Given the description of an element on the screen output the (x, y) to click on. 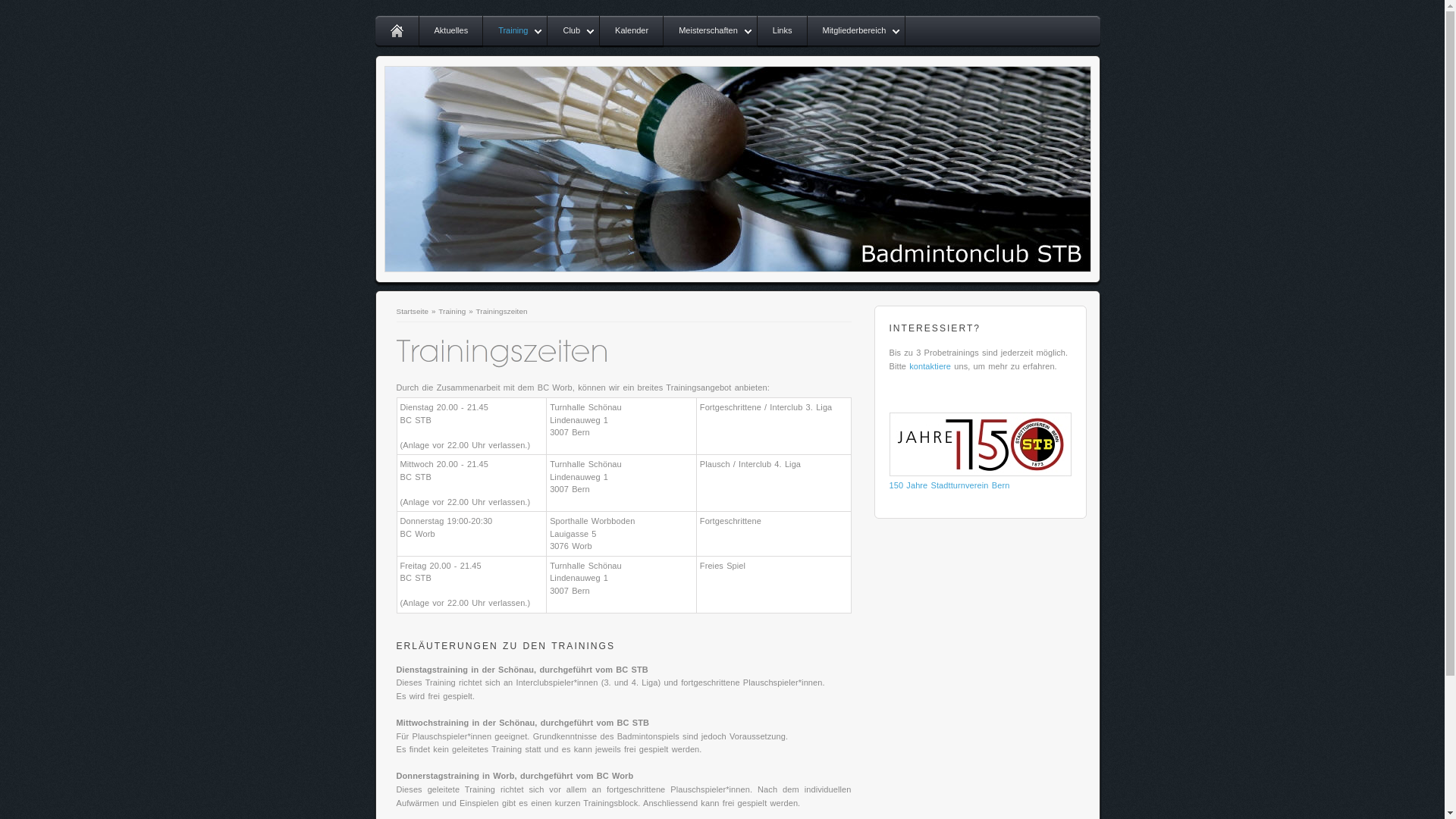
Startseite Element type: text (411, 311)
  Element type: text (395, 31)
Kalender Element type: text (631, 31)
Training Element type: text (515, 31)
Links Element type: text (782, 31)
Aktuelles Element type: text (450, 31)
Trainingszeiten Element type: text (501, 311)
150 Jahre Stadtturnverein Bern Element type: text (948, 484)
Training Element type: text (451, 311)
Mitgliederbereich Element type: text (855, 31)
kontaktiere Element type: text (929, 365)
Club Element type: text (573, 31)
Meisterschaften Element type: text (710, 31)
